Given the description of an element on the screen output the (x, y) to click on. 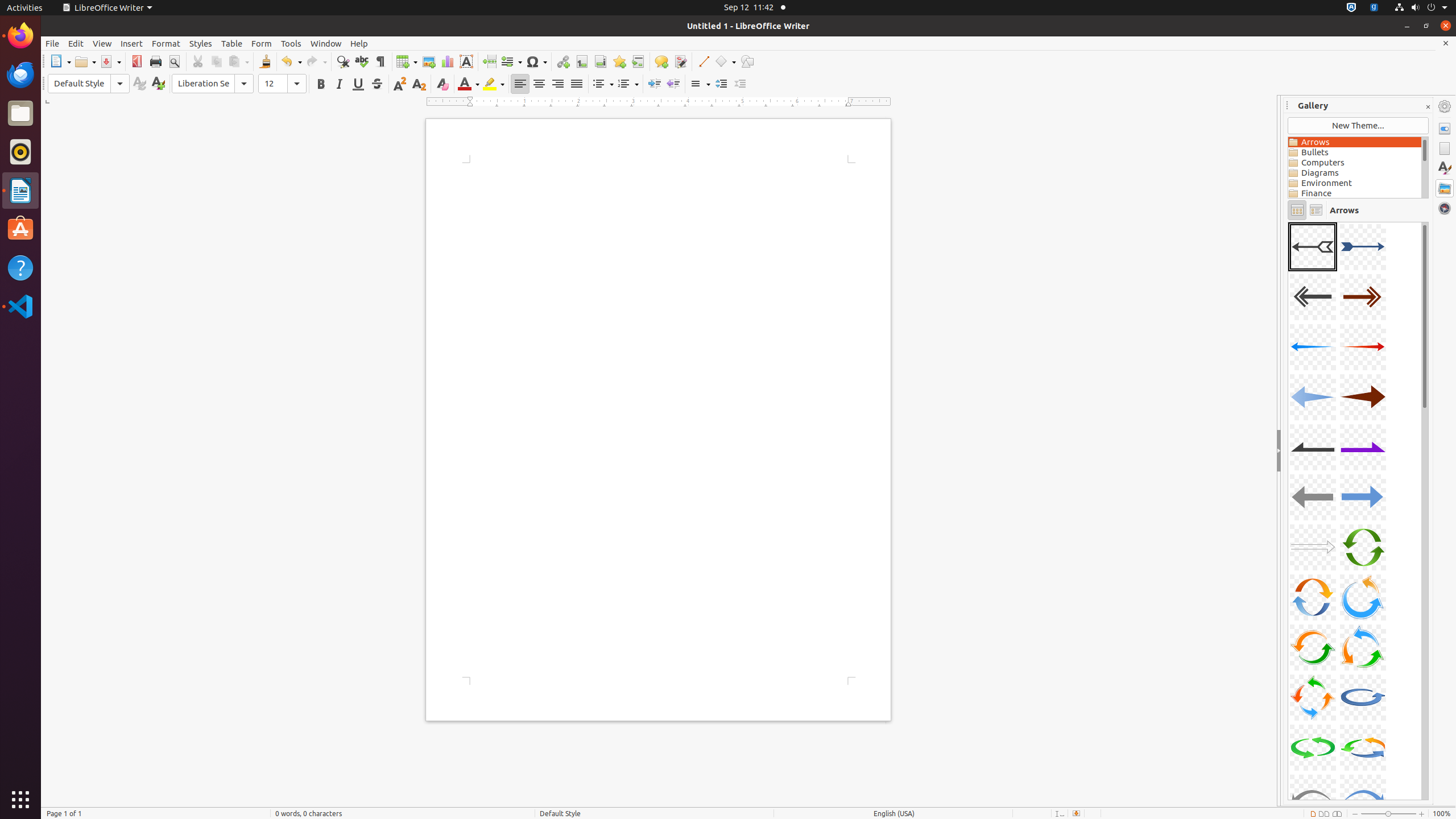
LibreOffice Writer Element type: menu (106, 7)
A08-Arrow-DarkRed-Right Element type: list-item (1362, 396)
Font Name Element type: combo-box (212, 83)
New Element type: push-button (157, 83)
Undo Element type: push-button (290, 61)
